Given the description of an element on the screen output the (x, y) to click on. 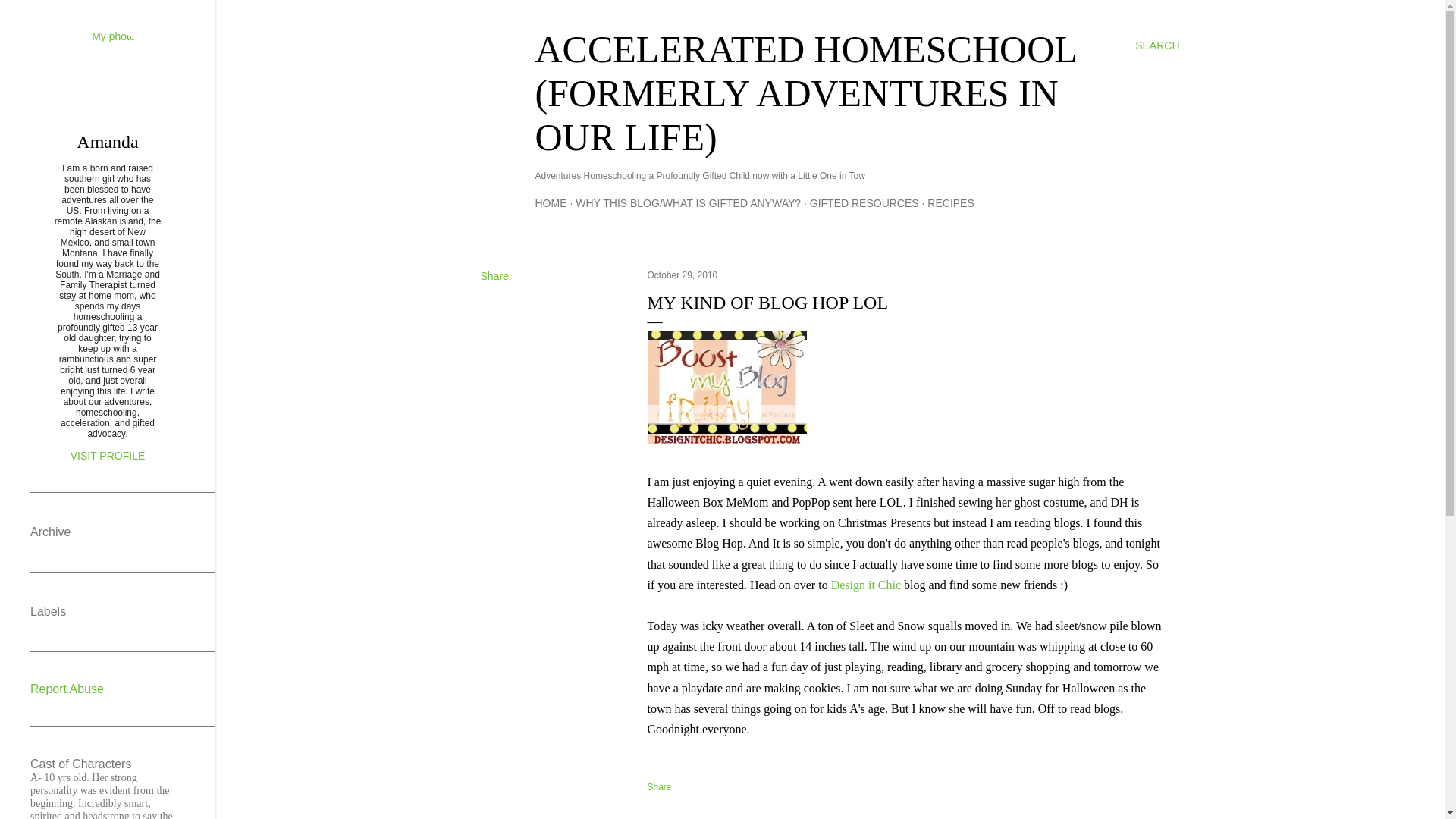
VISIT PROFILE (107, 455)
Amanda (107, 141)
permanent link (682, 275)
Share (494, 275)
October 29, 2010 (682, 275)
HOME (551, 203)
Share (659, 787)
RECIPES (950, 203)
GIFTED RESOURCES (863, 203)
SEARCH (1157, 45)
